Given the description of an element on the screen output the (x, y) to click on. 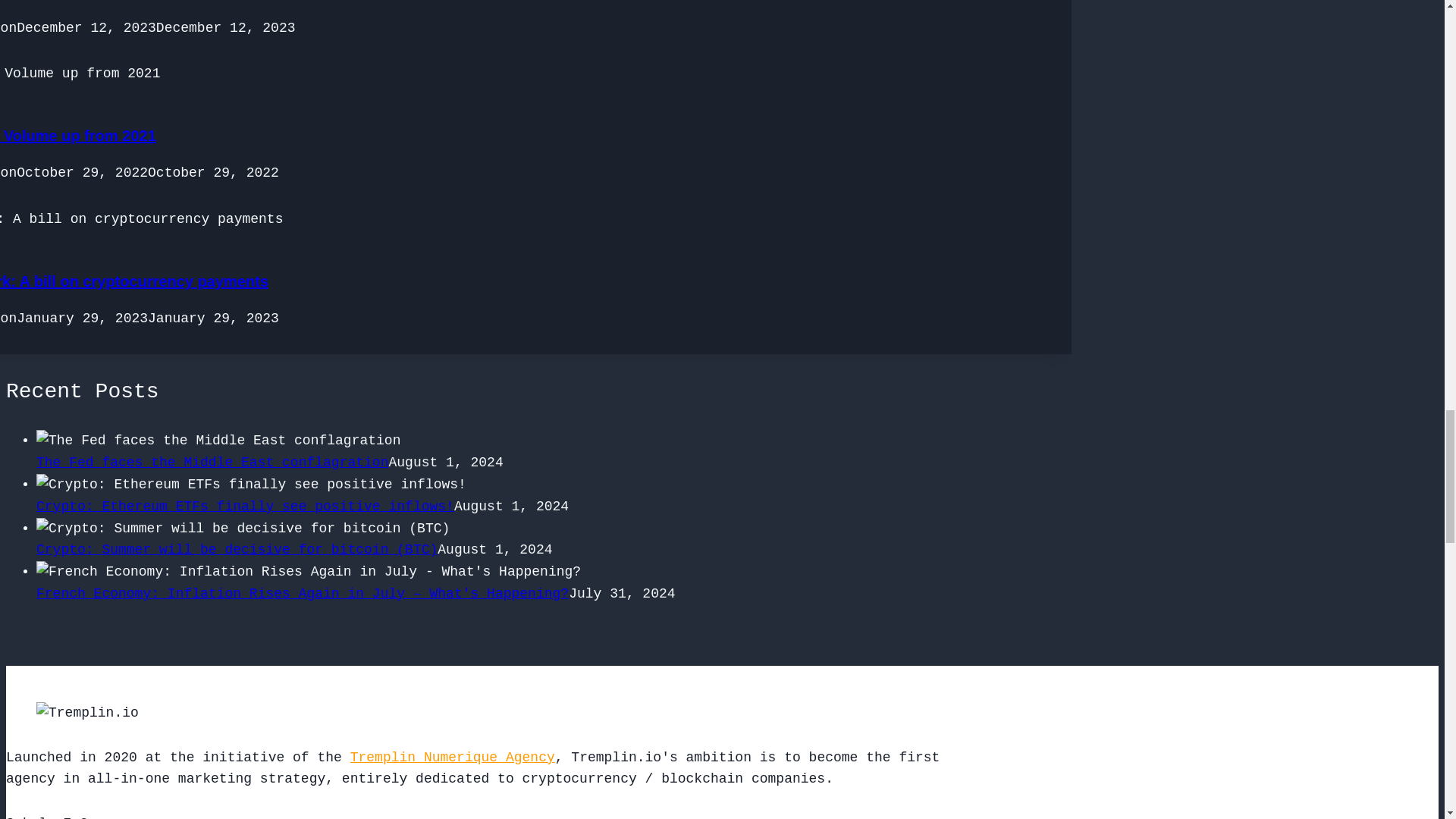
Crypto: Ethereum ETFs finally see positive inflows! (245, 506)
Bitcoin: Volume up from 2021 (77, 135)
Tremplin Numerique Agency (452, 757)
New York: A bill on cryptocurrency payments (133, 280)
The Fed faces the Middle East conflagration (212, 462)
